Given the description of an element on the screen output the (x, y) to click on. 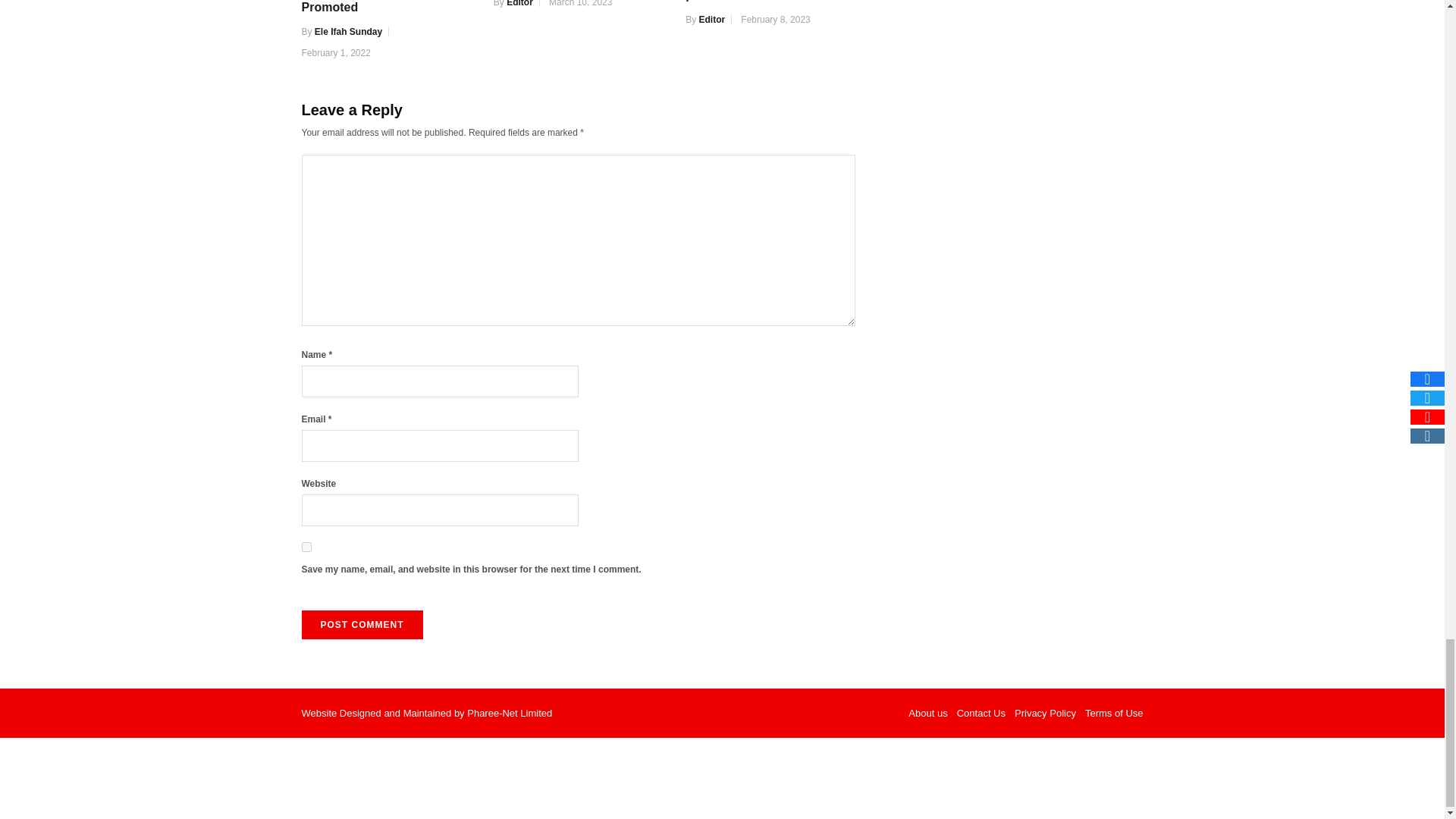
Post Comment (362, 624)
yes (306, 547)
